Given the description of an element on the screen output the (x, y) to click on. 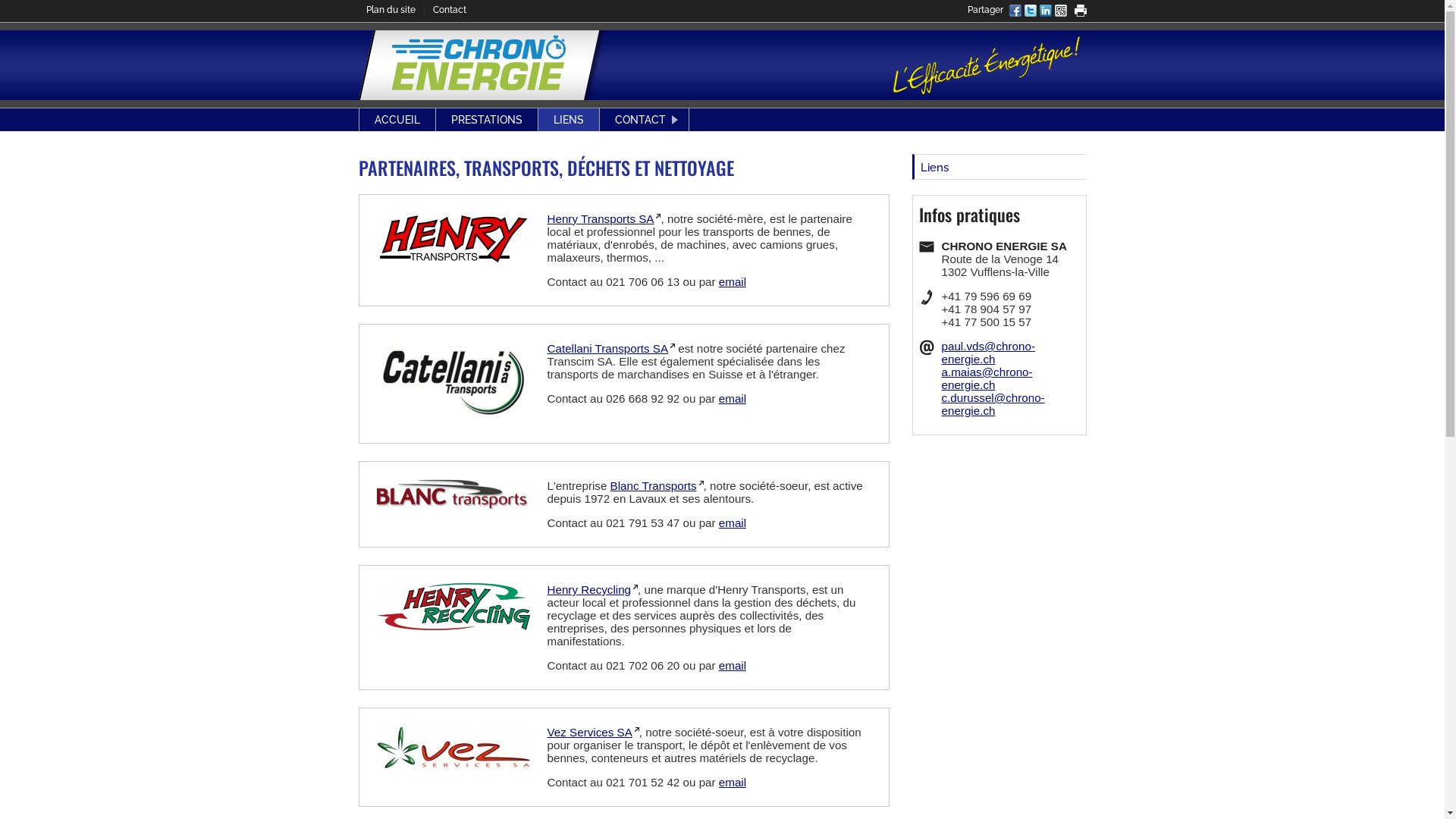
Catellani Transports SA Element type: text (611, 348)
paul.vds@chrono-energie.ch Element type: text (988, 352)
Partager sur LinkedIn Element type: hover (1044, 11)
email Element type: text (732, 664)
CONTACT Element type: text (643, 119)
Henry Transports SA Element type: text (604, 218)
email Element type: text (732, 781)
PRESTATIONS Element type: text (485, 119)
Henry Recycling Element type: text (592, 589)
email Element type: text (732, 398)
LIENS Element type: text (568, 119)
email Element type: text (732, 522)
Version imprimable Element type: hover (1079, 10)
Blanc Transports Element type: text (656, 485)
ACCUEIL Element type: text (397, 119)
Plan du site Element type: text (389, 9)
Partager sur Twitter Element type: hover (1029, 11)
Contact Element type: text (448, 9)
email Element type: text (732, 281)
Afficher le QR-Code Element type: hover (1060, 11)
Vez Services SA Element type: text (593, 731)
Partager sur Facebook Element type: hover (1014, 11)
a.maias@chrono-energie.ch Element type: text (986, 378)
Liens Element type: text (998, 166)
c.durussel@chrono-energie.ch Element type: text (992, 404)
